Given the description of an element on the screen output the (x, y) to click on. 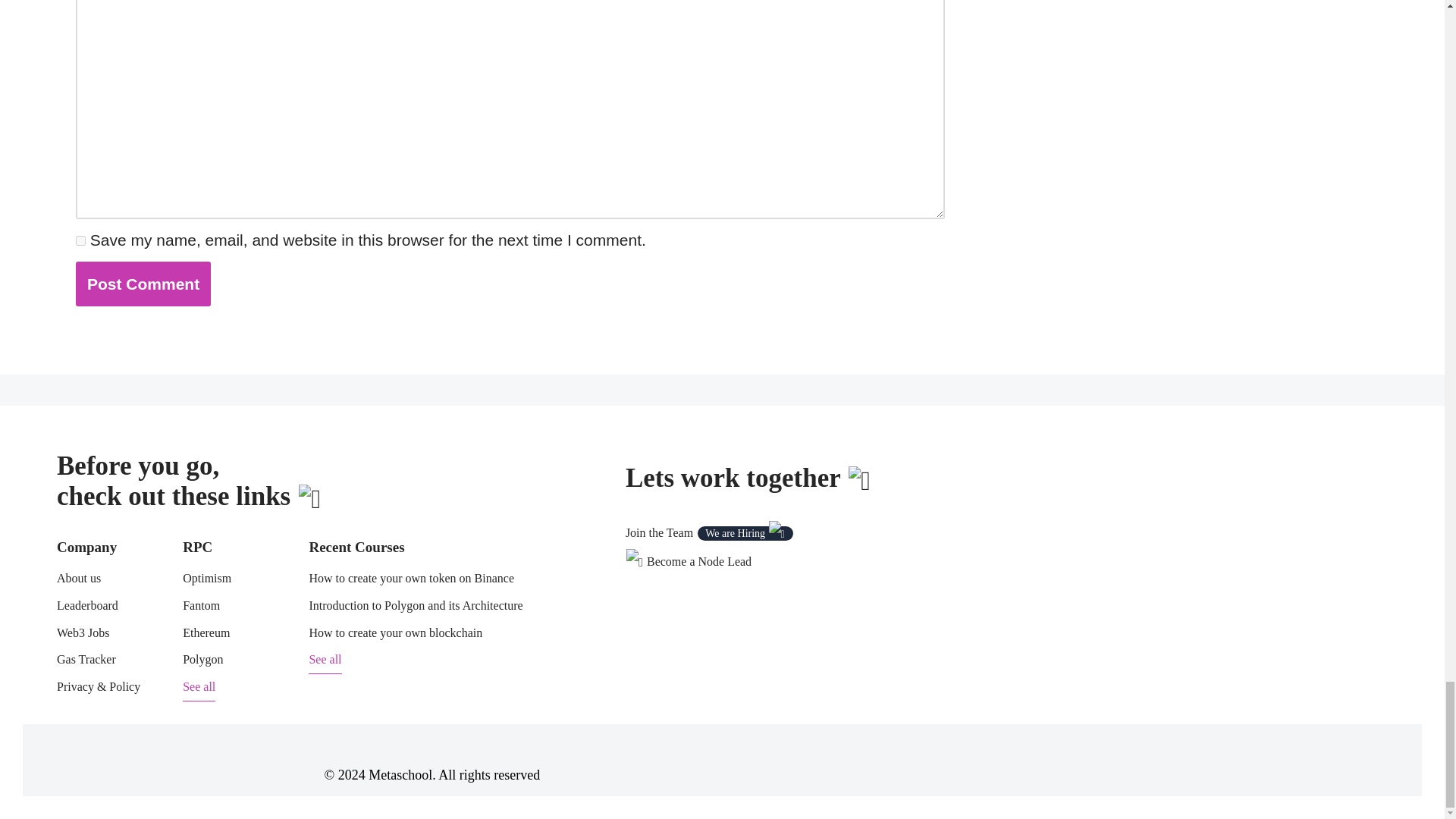
yes (80, 240)
Post Comment (143, 284)
